Given the description of an element on the screen output the (x, y) to click on. 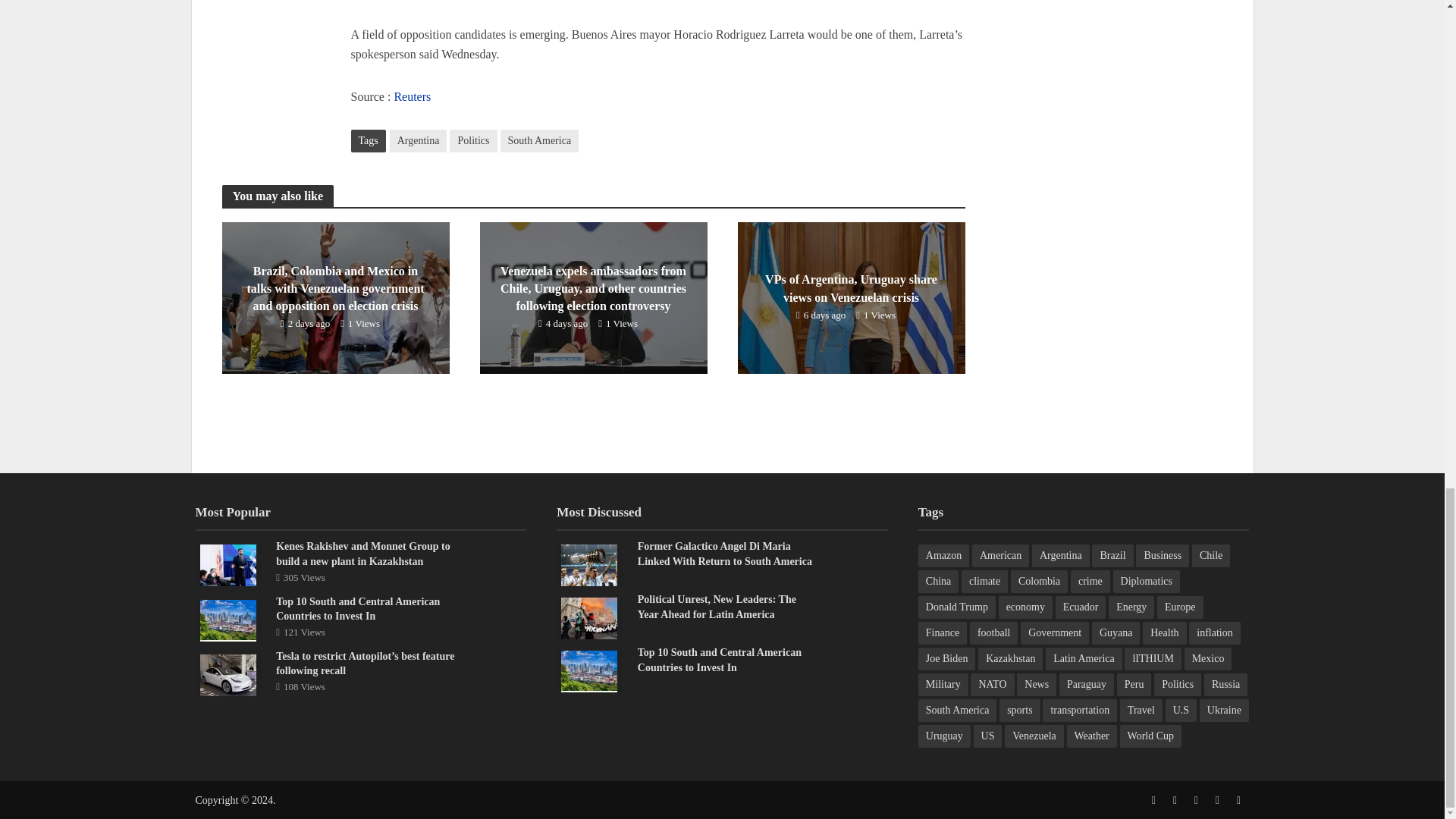
VPs of Argentina, Uruguay share views on Venezuelan crisis (849, 296)
